Given the description of an element on the screen output the (x, y) to click on. 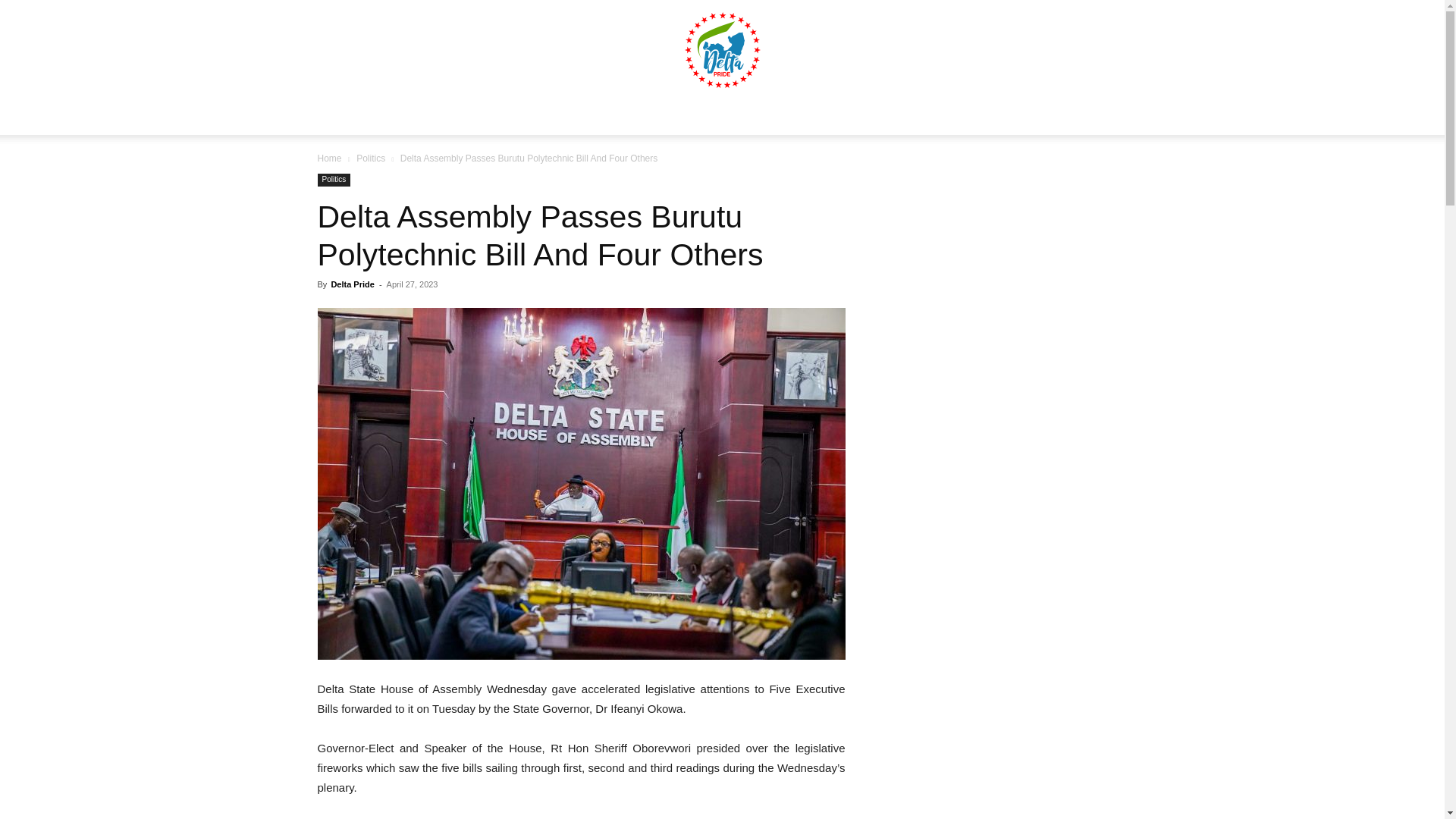
ENTERTAINMENT (871, 116)
OPINION (1030, 116)
Home (328, 158)
BUSINESS (630, 116)
View all posts in Politics (370, 158)
EDUCATION (773, 116)
HOME (443, 116)
CULTURE (961, 116)
Politics (333, 179)
HEALTH (700, 116)
NEWS (496, 116)
Delta Pride (352, 284)
Politics (370, 158)
POLITICS (558, 116)
